Given the description of an element on the screen output the (x, y) to click on. 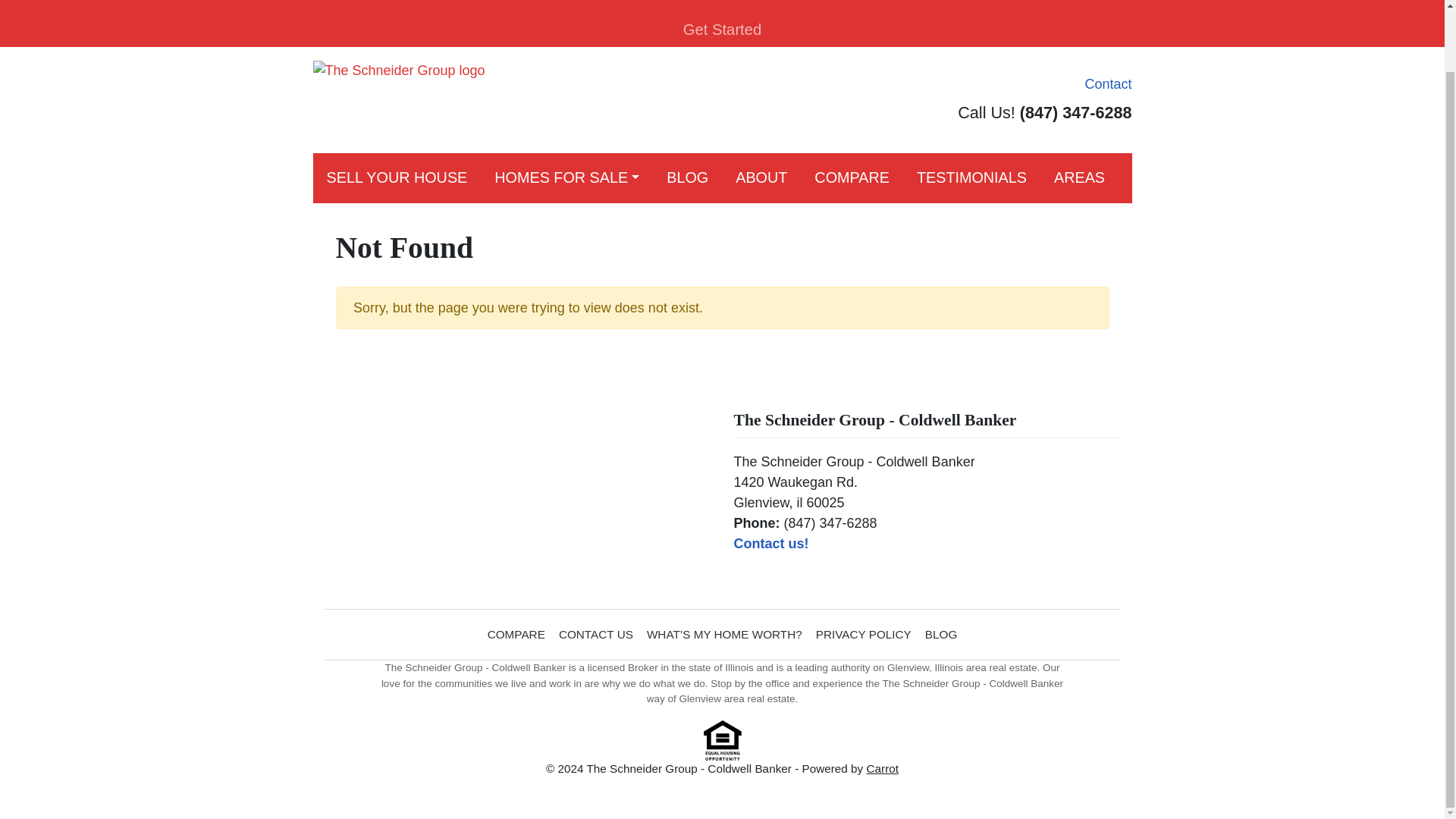
Contact us! (771, 543)
ABOUT (761, 178)
BLOG (940, 634)
COMPARE (515, 634)
COMPARE (851, 178)
CONTACT US (595, 634)
TESTIMONIALS (971, 178)
Sell Your House (396, 178)
SELL YOUR HOUSE (396, 178)
Get Started (722, 30)
Homes for Sale (566, 178)
Contact (1104, 84)
PRIVACY POLICY (863, 634)
Blog (687, 178)
Compare (851, 178)
